Given the description of an element on the screen output the (x, y) to click on. 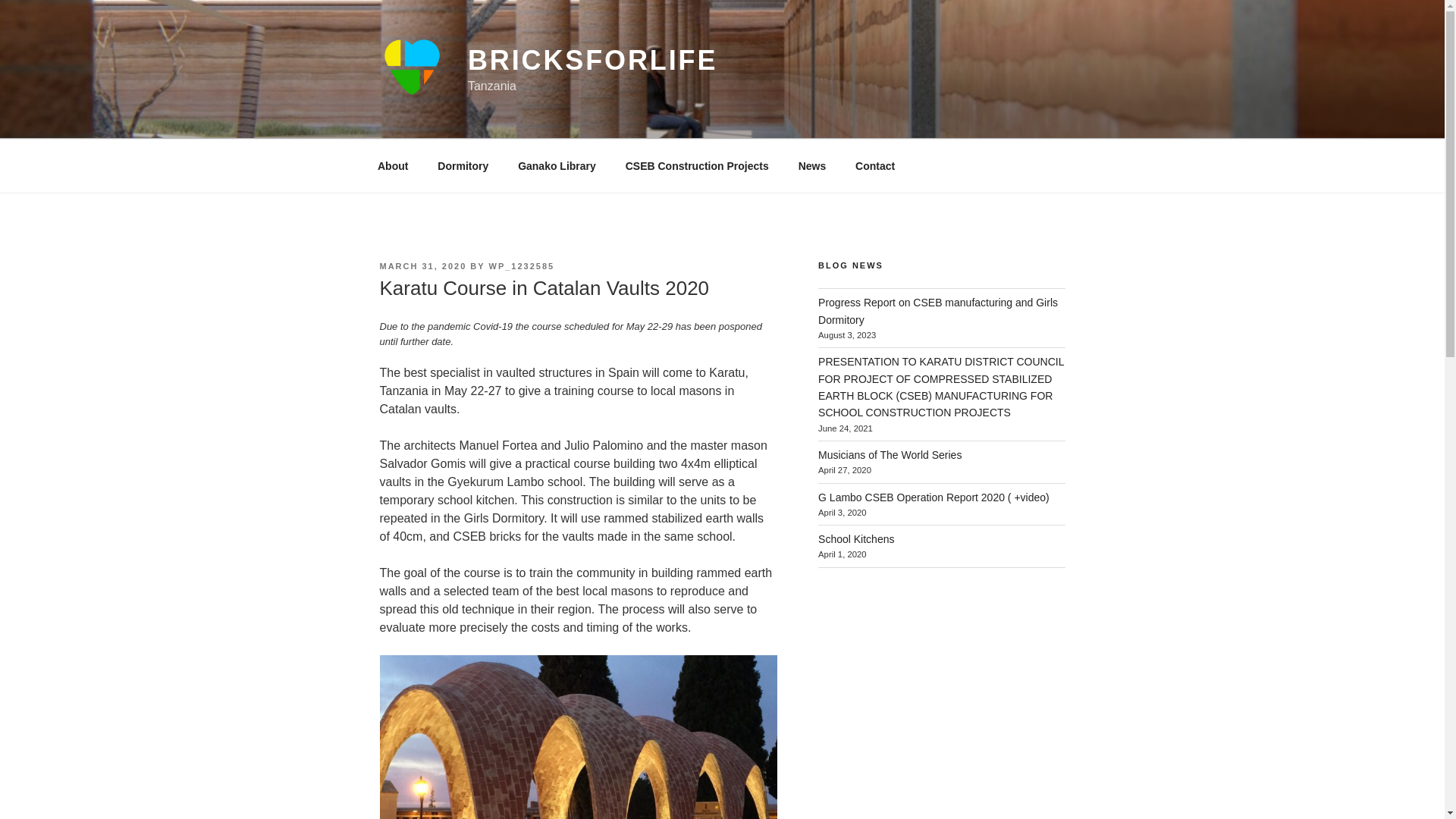
BRICKSFORLIFE (592, 60)
Contact (875, 165)
Musicians of The World Series (889, 454)
School Kitchens (855, 539)
Dormitory (463, 165)
MARCH 31, 2020 (421, 266)
Ganako Library (557, 165)
CSEB Construction Projects (696, 165)
News (812, 165)
Progress Report on CSEB manufacturing and Girls Dormitory (938, 310)
About (392, 165)
